Given the description of an element on the screen output the (x, y) to click on. 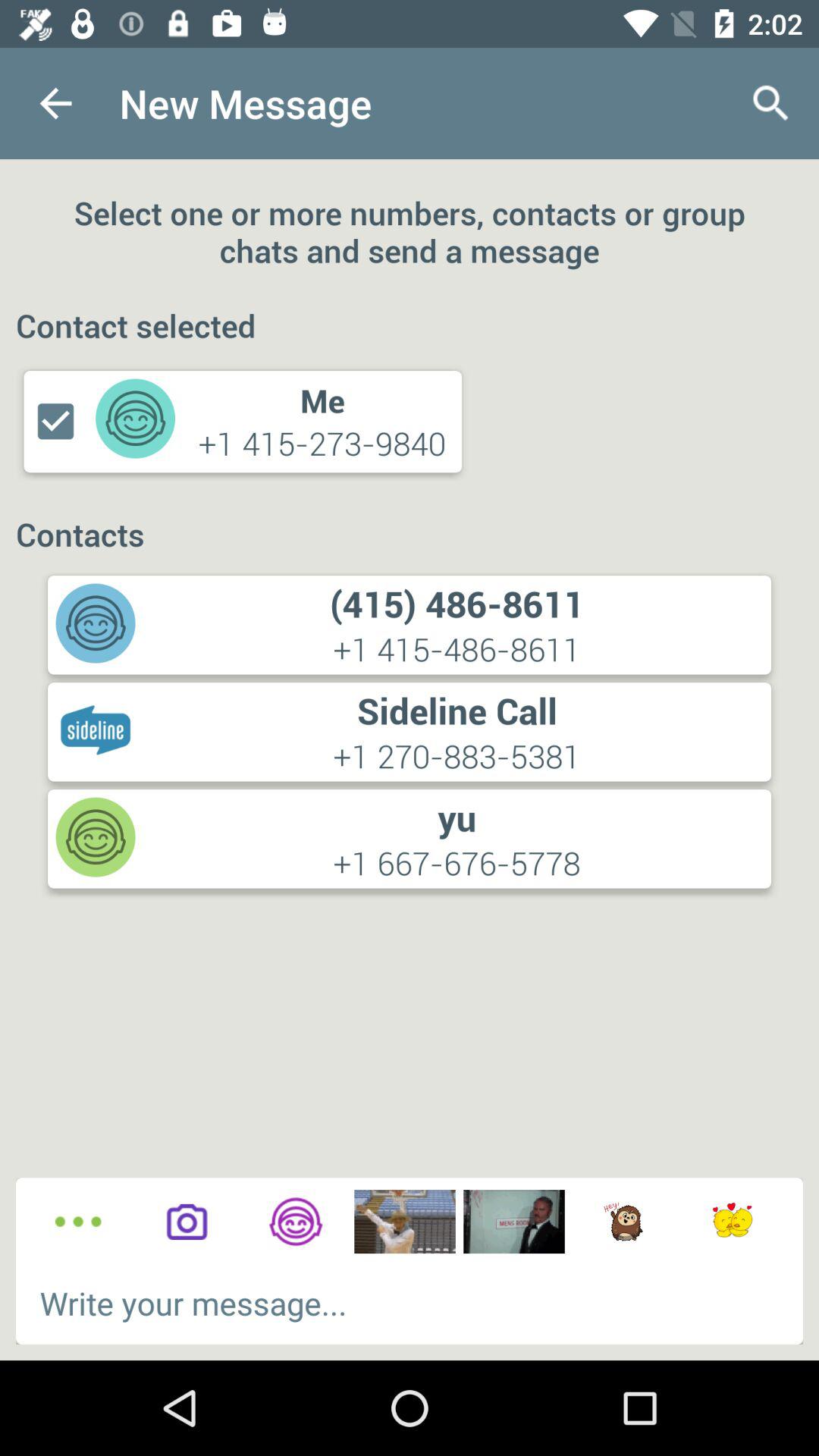
choose the app next to new message icon (55, 103)
